Given the description of an element on the screen output the (x, y) to click on. 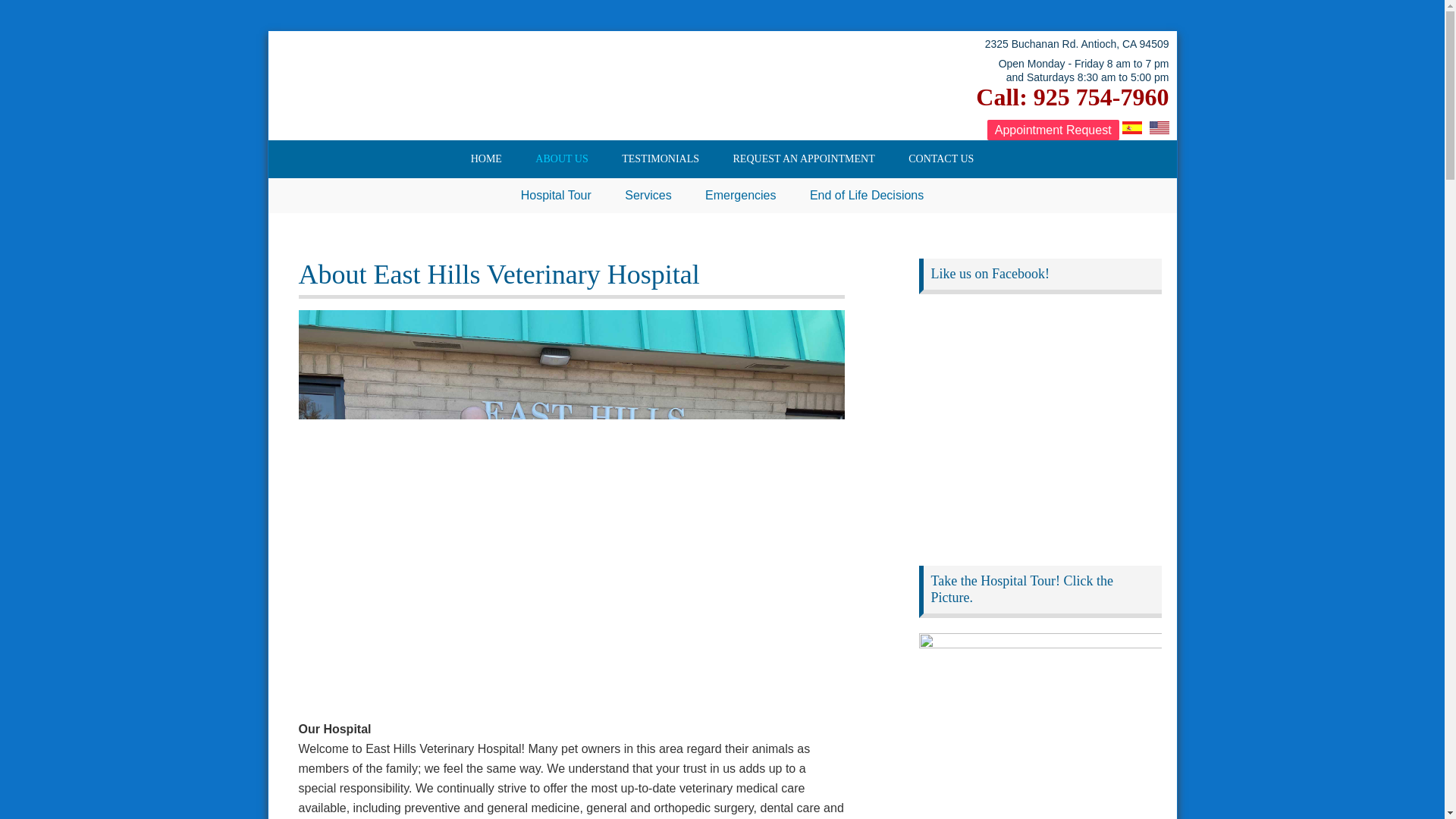
CONTACT US (940, 159)
Appointment Request (1053, 129)
East Hills Veterinary Hospital (386, 83)
REQUEST AN APPOINTMENT (803, 159)
Emergencies (740, 195)
Click to Take the Hospital Tour (1039, 723)
TESTIMONIALS (660, 159)
End of Life Decisions (866, 195)
ABOUT US (560, 159)
Hospital Tour (556, 195)
